Given the description of an element on the screen output the (x, y) to click on. 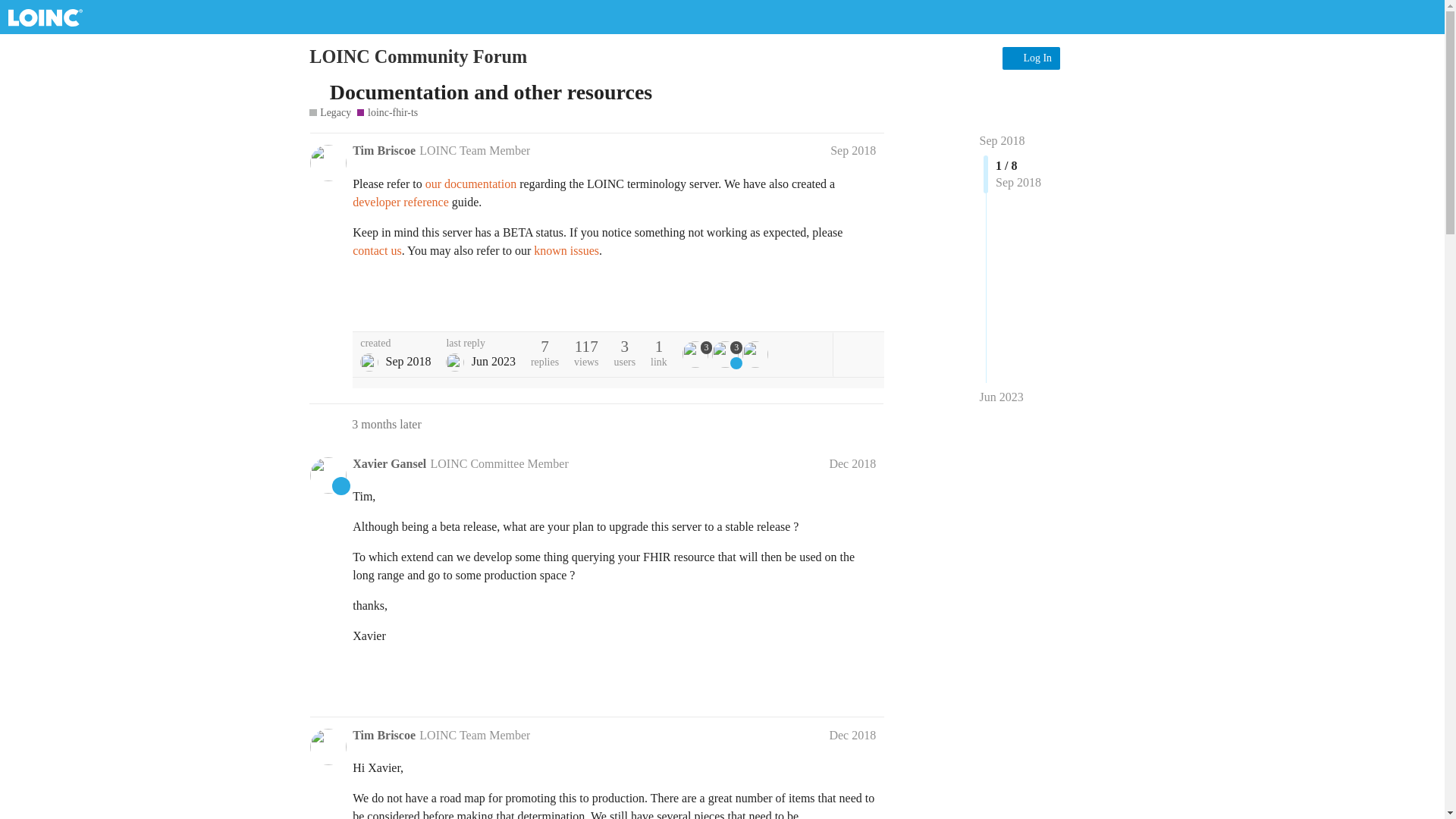
Log In (1031, 57)
Search (1082, 56)
Documentation and other resources (491, 92)
like this post (835, 303)
Xavier Gansel (389, 463)
Sep 4, 2018 8:42 pm (407, 360)
Jun 2023 (1001, 397)
Dec 2018 (852, 462)
Sep 2018 (1002, 139)
LOINC Team Member (474, 150)
menu (1117, 56)
developer reference (400, 201)
This topic is closed; it no longer accepts new replies (316, 91)
known issues (566, 250)
Post date (852, 150)
